Given the description of an element on the screen output the (x, y) to click on. 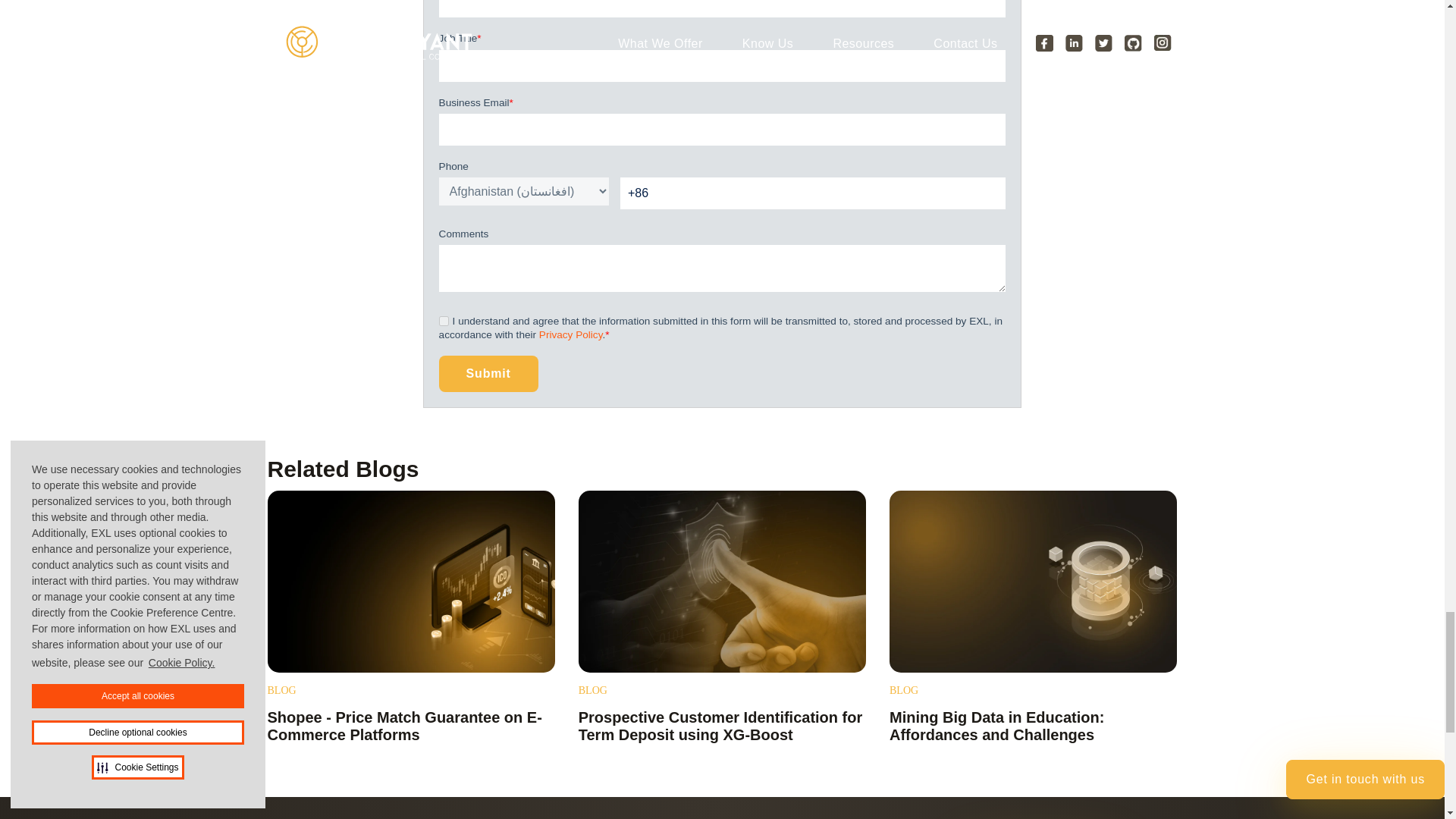
Submit (488, 373)
true (443, 320)
